Given the description of an element on the screen output the (x, y) to click on. 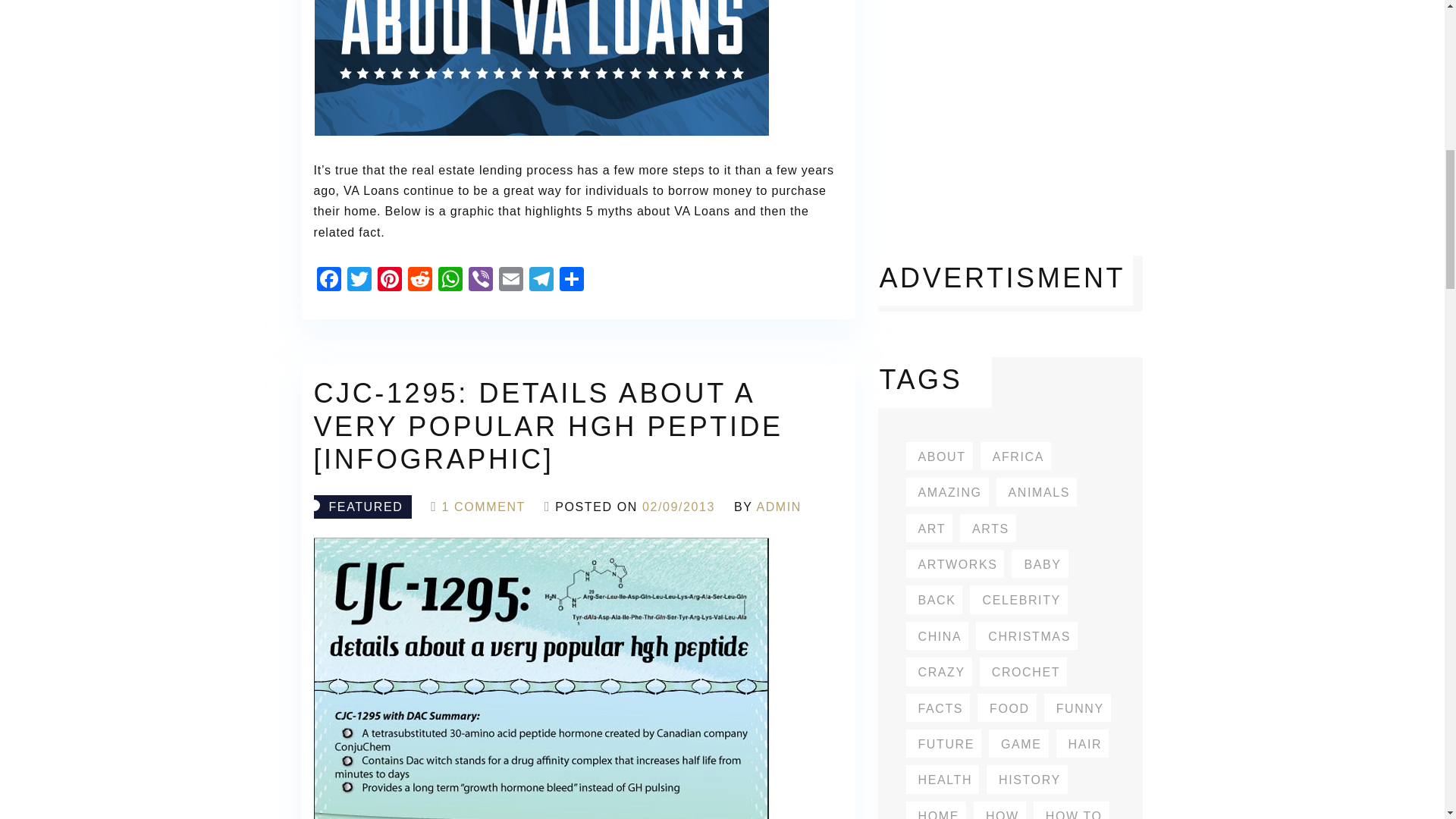
WhatsApp (450, 280)
Pinterest (389, 280)
Facebook (328, 280)
Reddit (419, 280)
Twitter (358, 280)
Viber (480, 280)
